Given the description of an element on the screen output the (x, y) to click on. 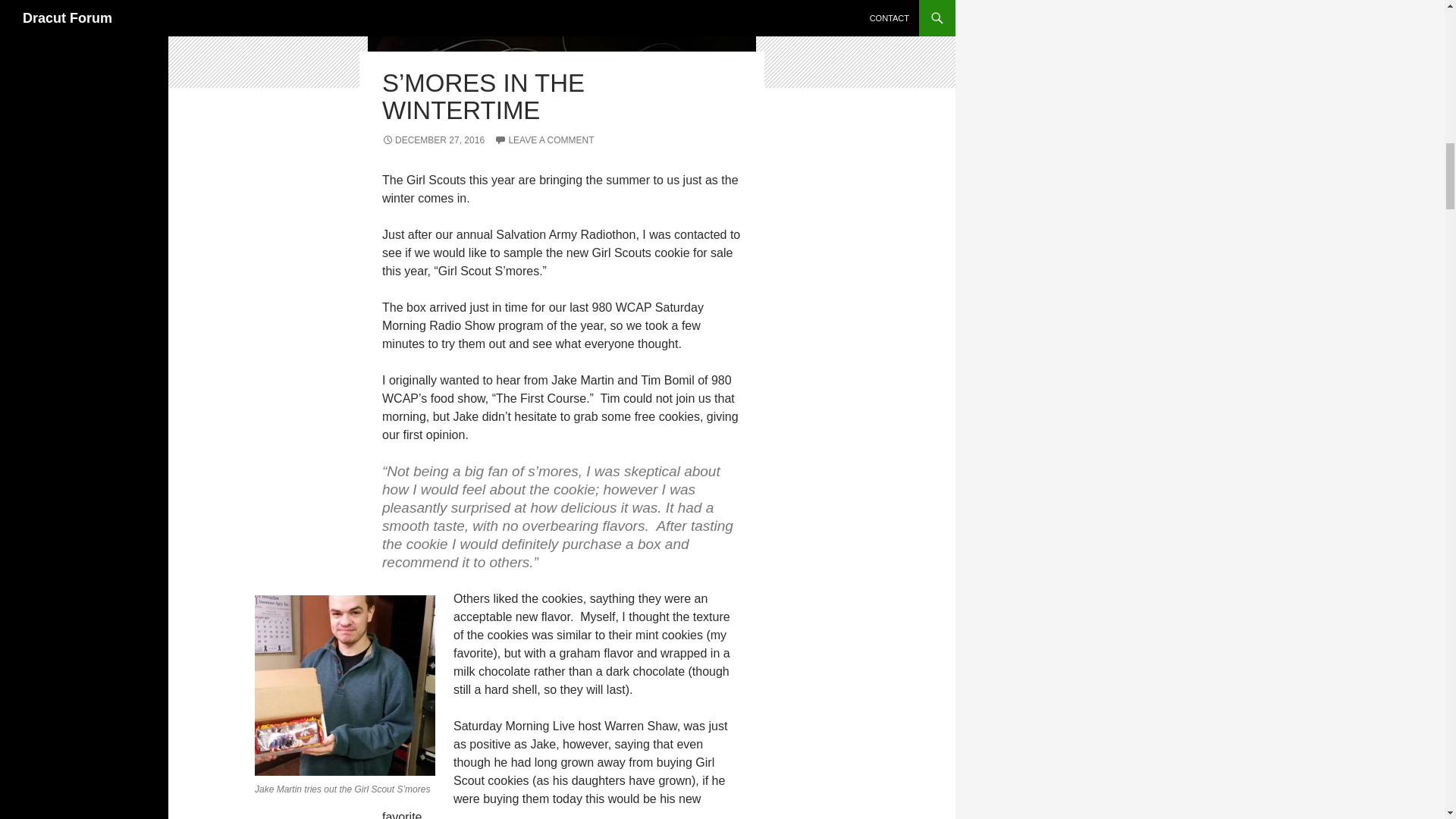
DECEMBER 27, 2016 (432, 140)
LEAVE A COMMENT (544, 140)
